Given the description of an element on the screen output the (x, y) to click on. 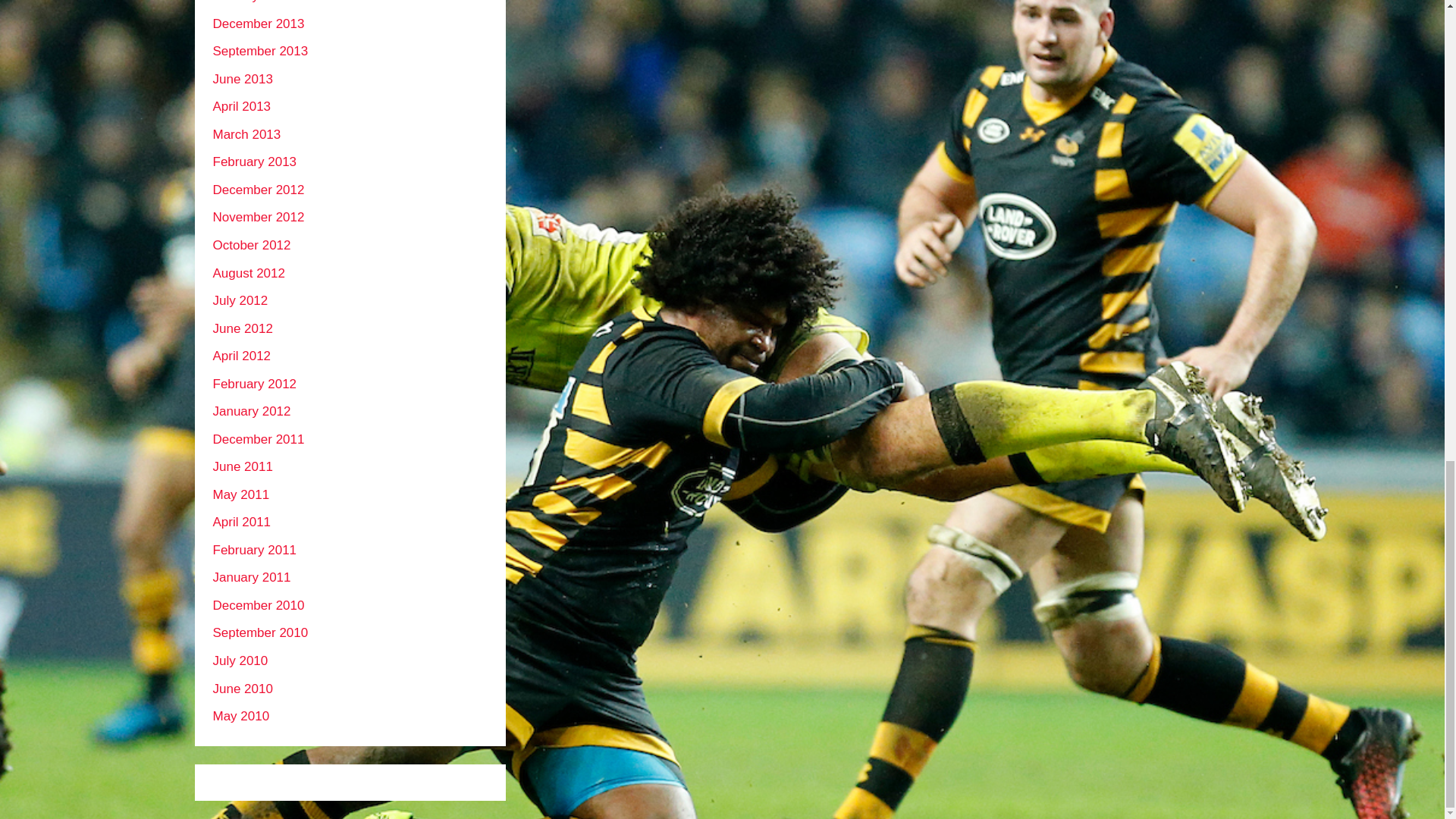
June 2013 (242, 79)
January 2014 (250, 1)
December 2013 (258, 23)
April 2013 (241, 106)
March 2013 (246, 134)
September 2013 (259, 51)
